Given the description of an element on the screen output the (x, y) to click on. 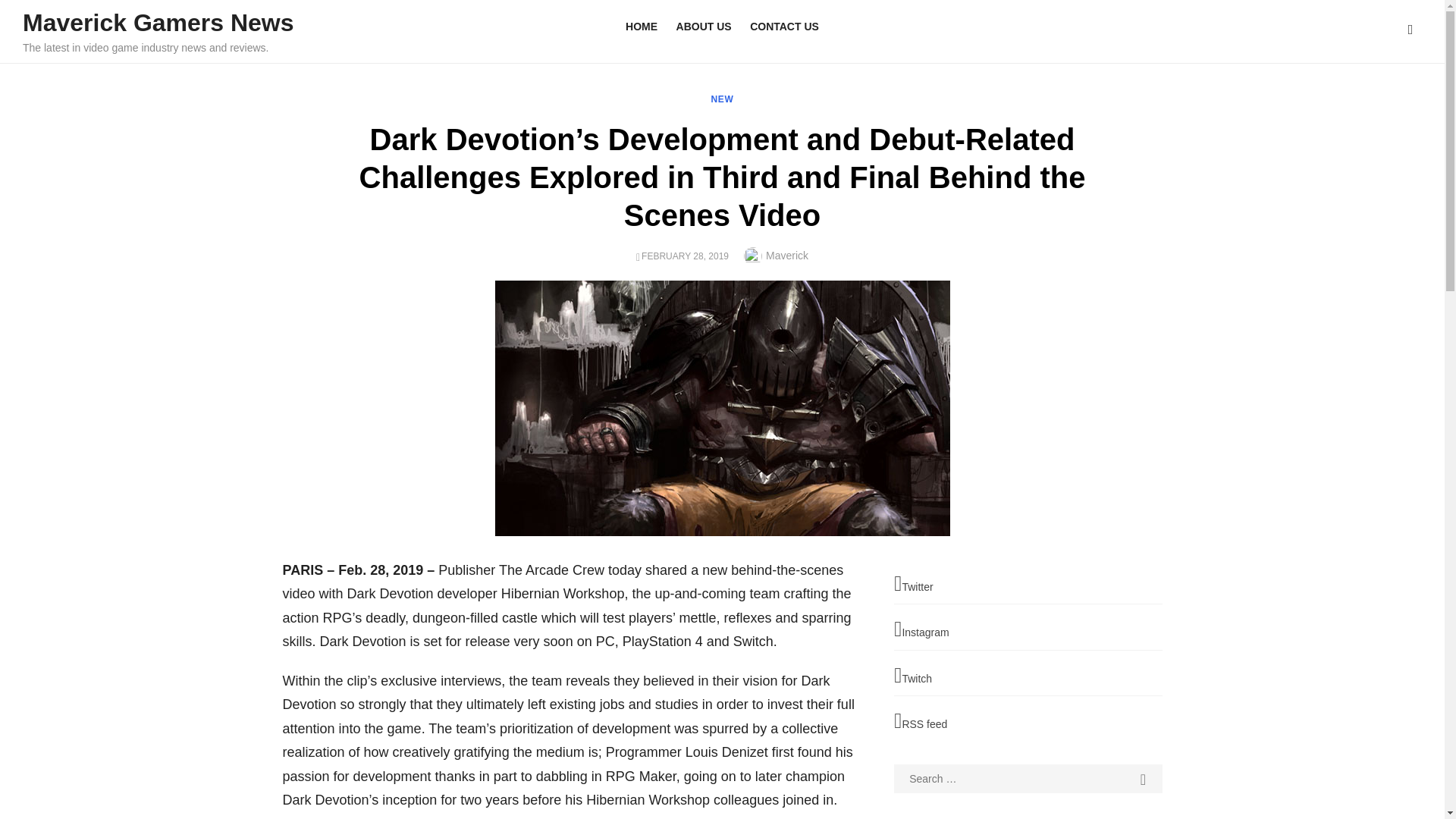
Instagram (1027, 630)
CONTACT US (784, 26)
Twitch (1027, 675)
Twitter (1027, 585)
Visit Maverick Gamers News on Twitter (1027, 585)
Visit Maverick Gamers News on RSS feed (1027, 721)
FEBRUARY 28, 2019 (685, 255)
HOME (641, 26)
Visit Maverick Gamers News on Twitch (1027, 675)
NEW (722, 99)
